Given the description of an element on the screen output the (x, y) to click on. 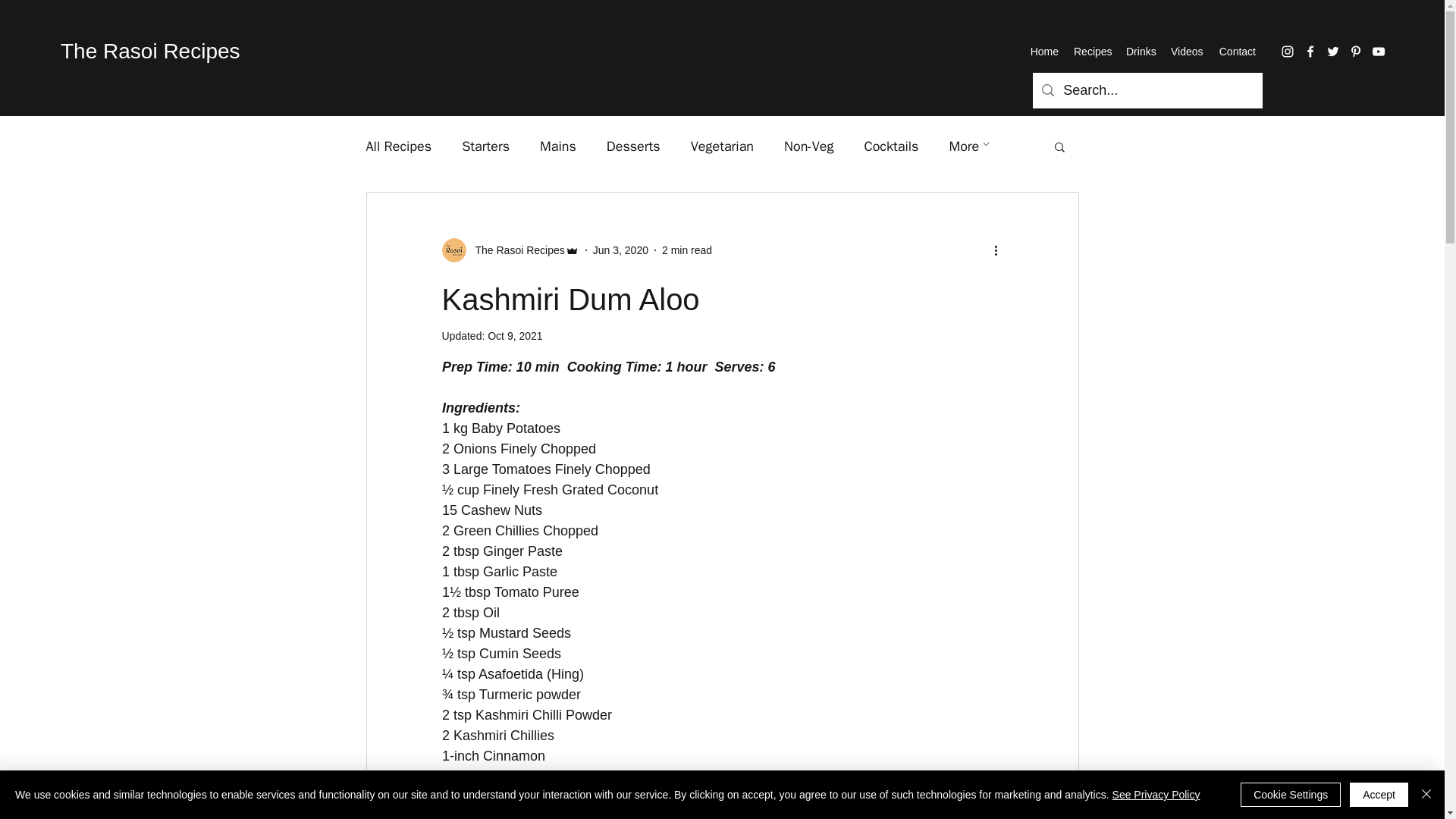
Non-Veg (808, 146)
Vegetarian (722, 146)
Desserts (634, 146)
Recipes (1091, 51)
The Rasoi Recipes (150, 51)
Mains (558, 146)
Drinks (1140, 51)
Starters (485, 146)
Videos (1186, 51)
Home (1043, 51)
The Rasoi Recipes (509, 250)
Oct 9, 2021 (514, 336)
Contact (1236, 51)
Jun 3, 2020 (619, 250)
2 min read (686, 250)
